Given the description of an element on the screen output the (x, y) to click on. 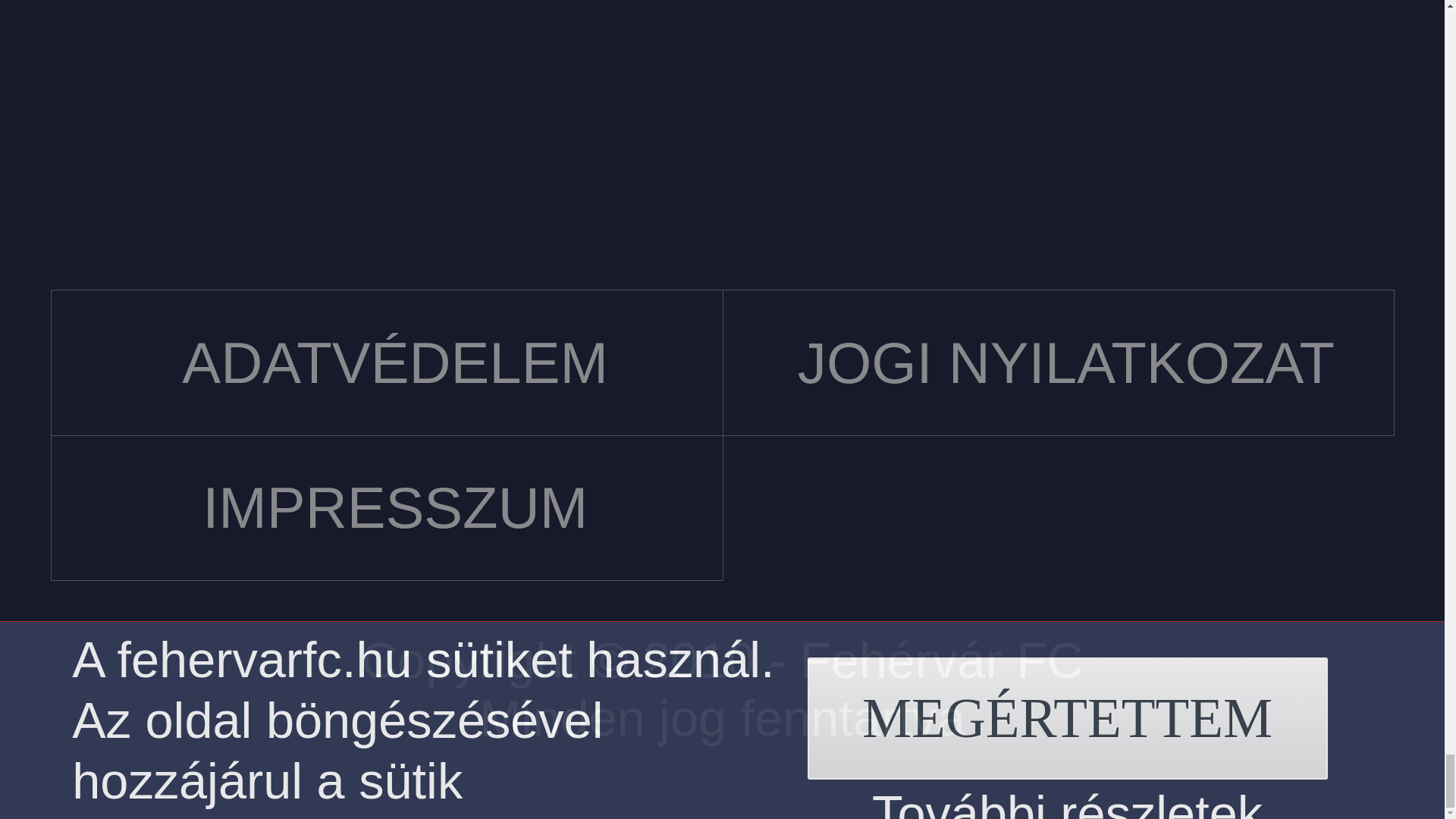
JOGI NYILATKOZAT (1058, 361)
IMPRESSZUM (386, 507)
